Given the description of an element on the screen output the (x, y) to click on. 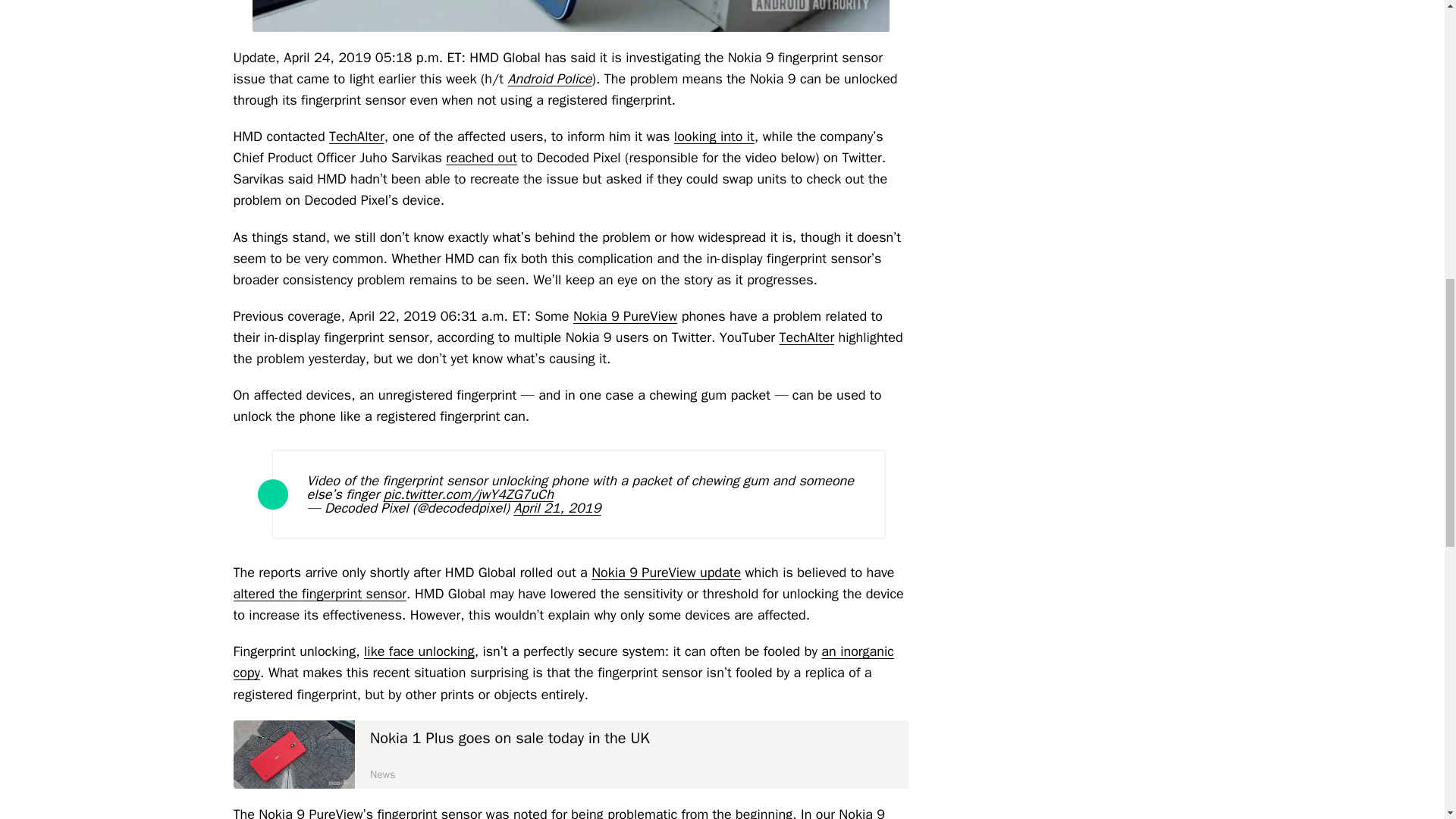
HMD Global Nokia 1 Plus 00889 (293, 754)
like face unlocking (419, 651)
an inorganic copy (562, 661)
Nokia 9 PureView Review 00930 (569, 15)
Nokia 9 PureView review (570, 754)
looking into it (558, 812)
April 21, 2019 (714, 135)
altered the fingerprint sensor (556, 507)
TechAlter (319, 593)
Nokia 9 PureView (806, 337)
Android Police (625, 315)
Nokia 9 PureView update (550, 78)
reached out (666, 572)
TechAlter (480, 157)
